Given the description of an element on the screen output the (x, y) to click on. 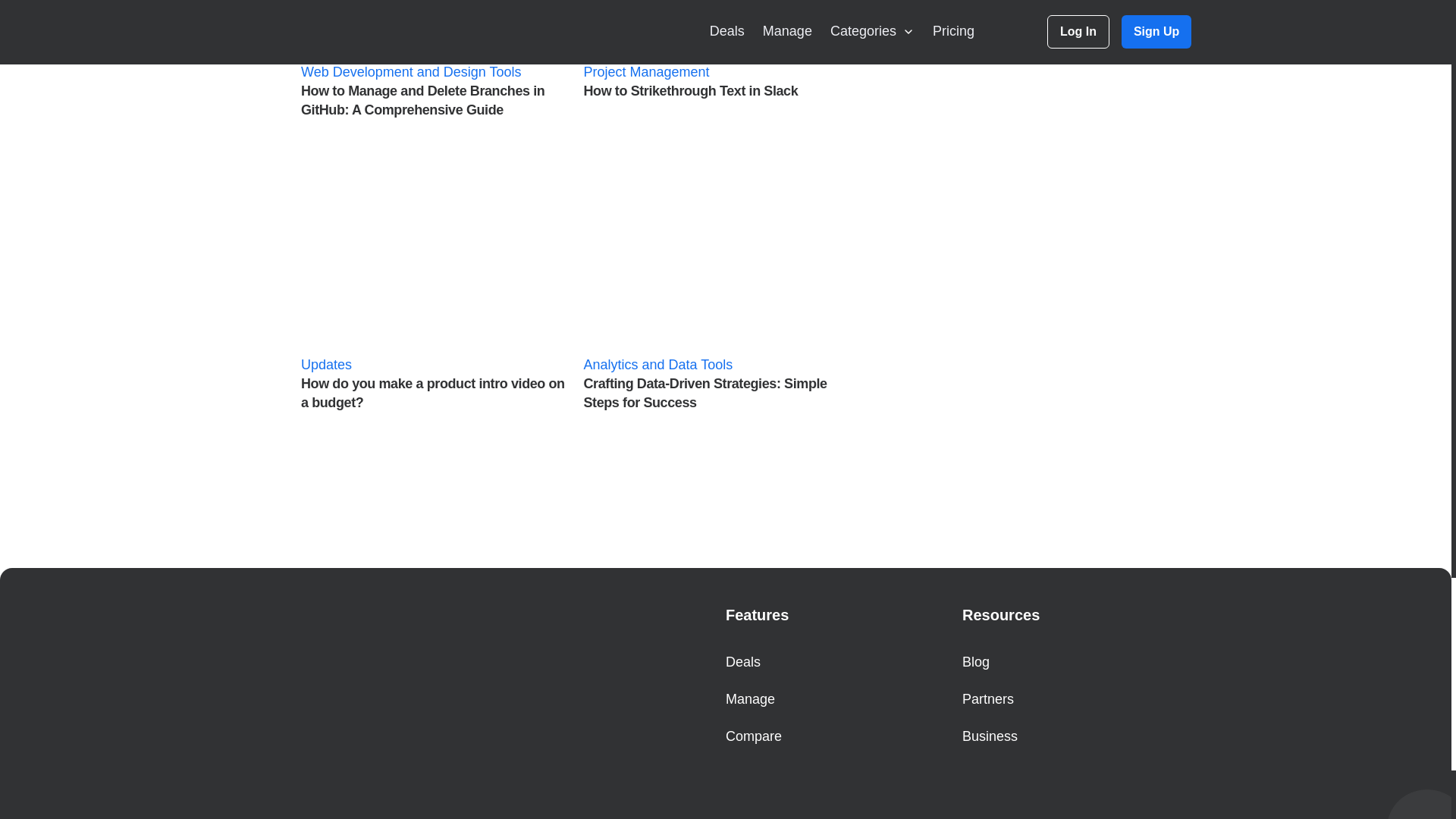
Crafting Data-Driven Strategies: Simple Steps for Success (718, 281)
How to Strikethrough Text in Slack (718, 54)
How do you make a product intro video on a budget? (436, 281)
